Given the description of an element on the screen output the (x, y) to click on. 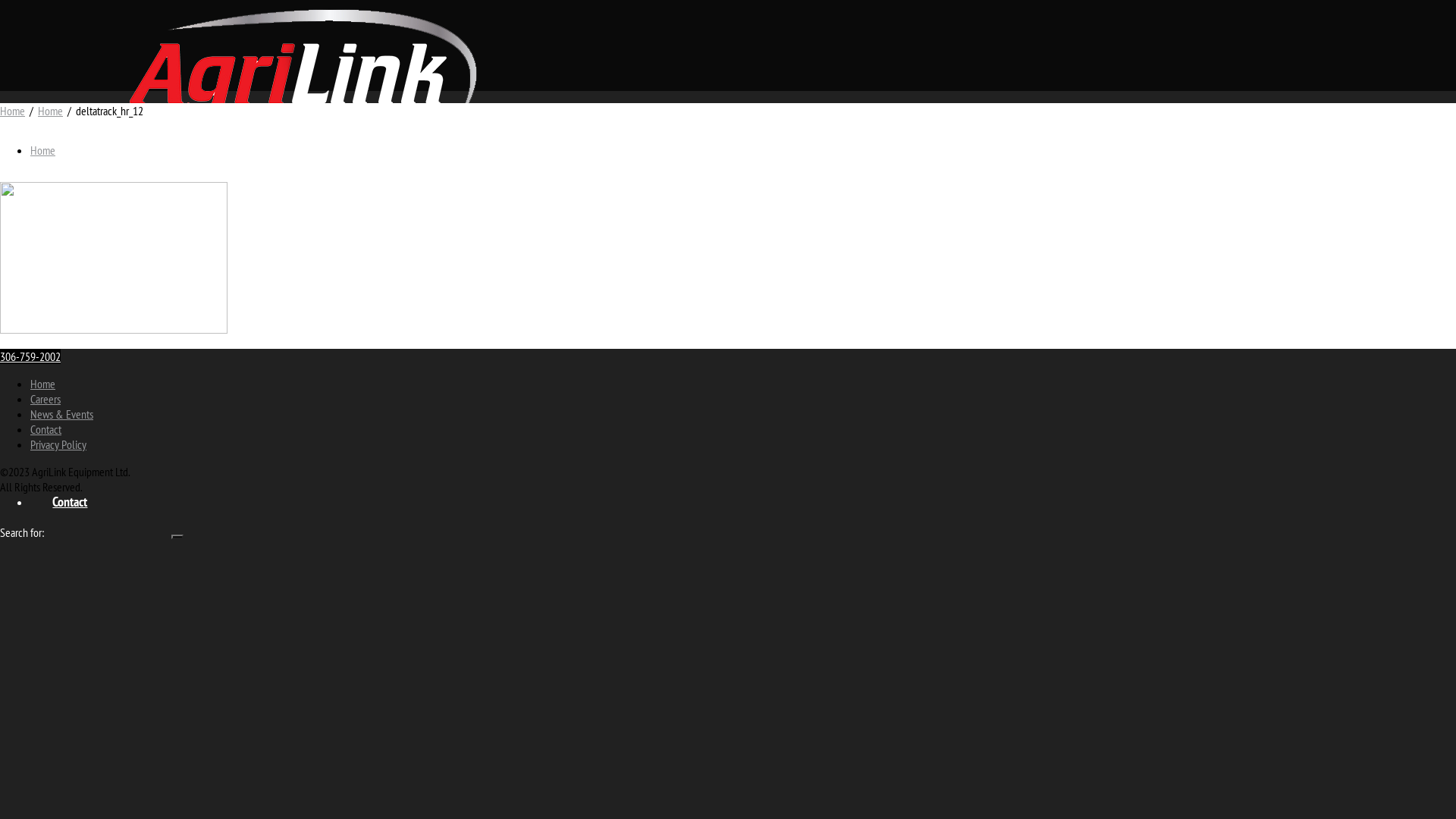
Parts Books & Product Catalogues Element type: text (164, 355)
AgriLink Equipment Ltd Element type: hover (303, 68)
Careers Element type: text (100, 482)
News & Events Element type: text (119, 464)
Schedule Service Element type: text (123, 391)
306-759-2002 Element type: text (30, 159)
E-Commerce Element type: text (112, 336)
Offers Element type: text (67, 427)
Home Element type: text (12, 110)
Brands Element type: text (99, 282)
Home Element type: text (42, 383)
40 Main Street, Brownlee, Saskatchewan Map it Element type: text (96, 174)
Home Element type: text (42, 149)
Careers Element type: text (45, 398)
Apply for Financing Element type: text (98, 409)
Equipment Element type: text (78, 264)
Contact Element type: text (45, 428)
Search Element type: hover (177, 536)
Home Element type: text (66, 245)
306-759-2002 Element type: text (30, 356)
About Element type: text (66, 446)
Home Element type: text (49, 110)
Privacy Policy Element type: text (58, 443)
Preventative Maintenance Element type: text (145, 373)
Parts & Service Element type: text (89, 318)
News & Events Element type: text (61, 413)
Contact Element type: text (69, 500)
Inventory Element type: text (105, 300)
Search Element type: text (177, 536)
